Given the description of an element on the screen output the (x, y) to click on. 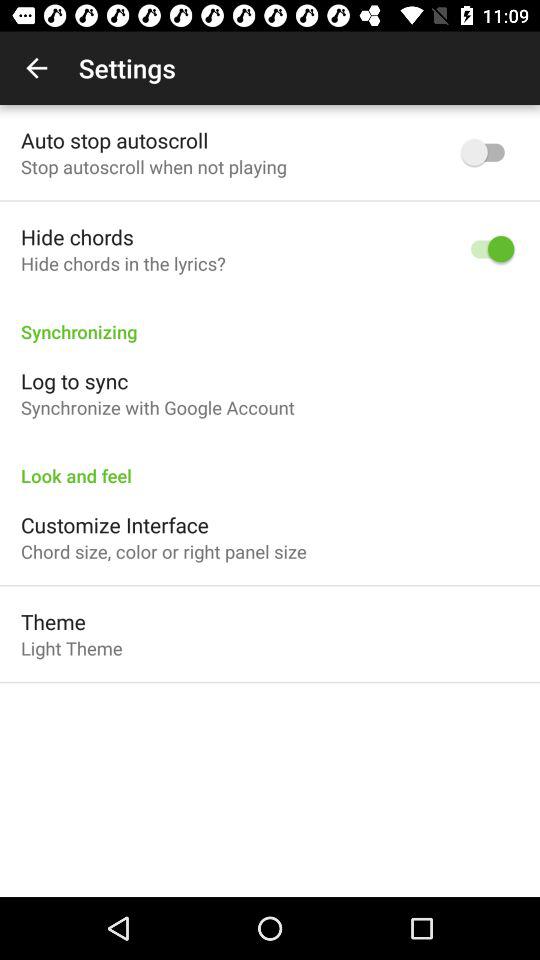
turn off icon above the look and feel item (157, 407)
